Given the description of an element on the screen output the (x, y) to click on. 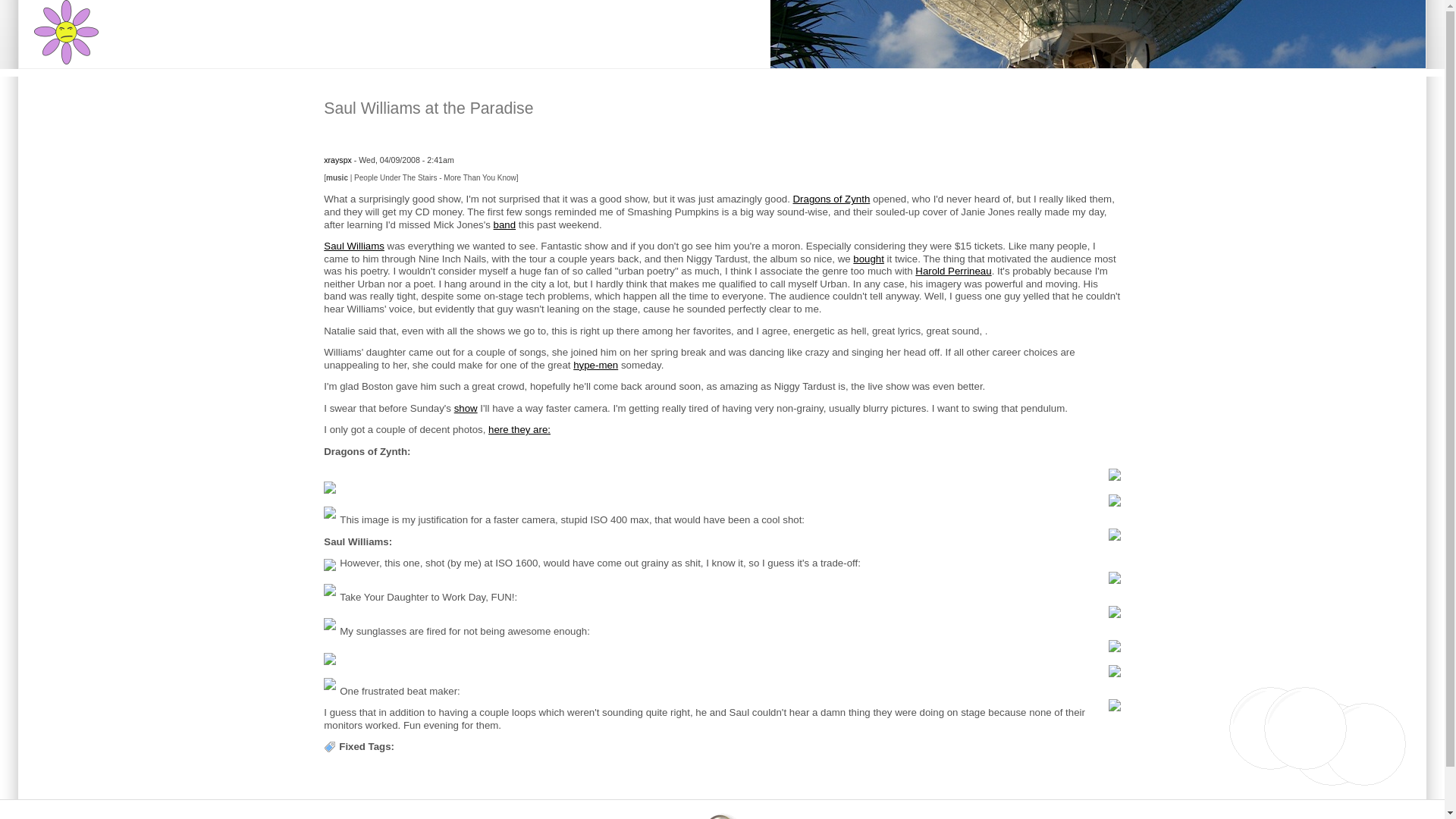
Dragons of Zynth (831, 198)
Skip to search (32, 0)
View user profile. (337, 159)
xrayspx (337, 159)
band (504, 224)
